Given the description of an element on the screen output the (x, y) to click on. 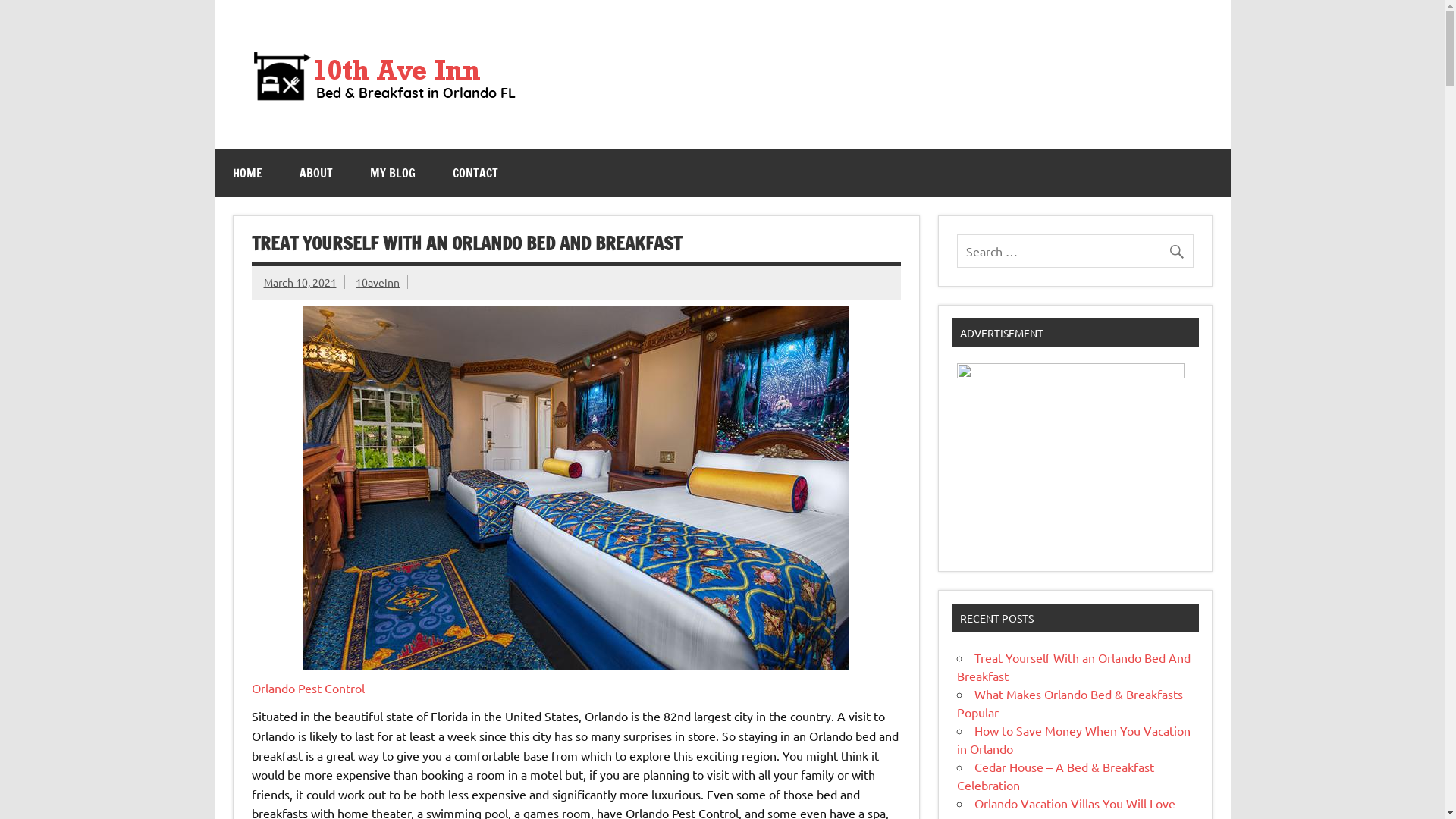
CONTACT Element type: text (474, 172)
How to Save Money When You Vacation in Orlando Element type: text (1073, 739)
ABOUT Element type: text (315, 172)
March 10, 2021 Element type: text (299, 281)
10aveinn Element type: text (377, 281)
HOME Element type: text (246, 172)
Treat Yourself With an Orlando Bed And Breakfast Element type: text (1073, 666)
What Makes Orlando Bed & Breakfasts Popular Element type: text (1070, 702)
TREAT YOURSELF WITH AN ORLANDO BED AND BREAKFAST Element type: text (466, 243)
Orlando Pest Control Element type: text (307, 687)
MY BLOG Element type: text (392, 172)
Orlando Vacation Villas You Will Love Element type: text (1074, 802)
10th Ave Inn Element type: text (688, 50)
